Given the description of an element on the screen output the (x, y) to click on. 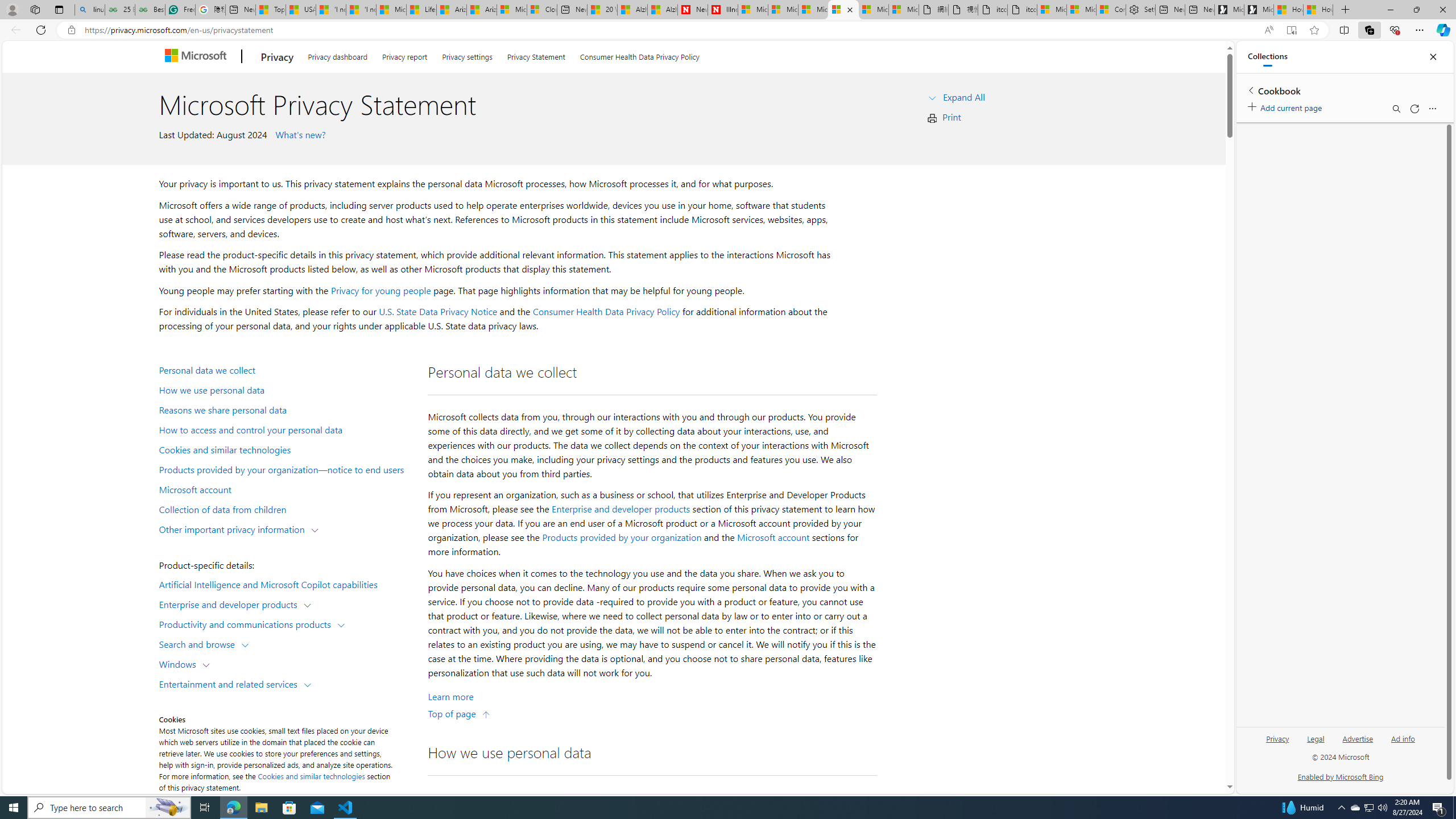
Collection of data from children (287, 508)
Personal data we collect (287, 368)
Privacy Statement (536, 54)
25 Basic Linux Commands For Beginners - GeeksforGeeks (119, 9)
Microsoft account (287, 488)
Print (951, 116)
